Given the description of an element on the screen output the (x, y) to click on. 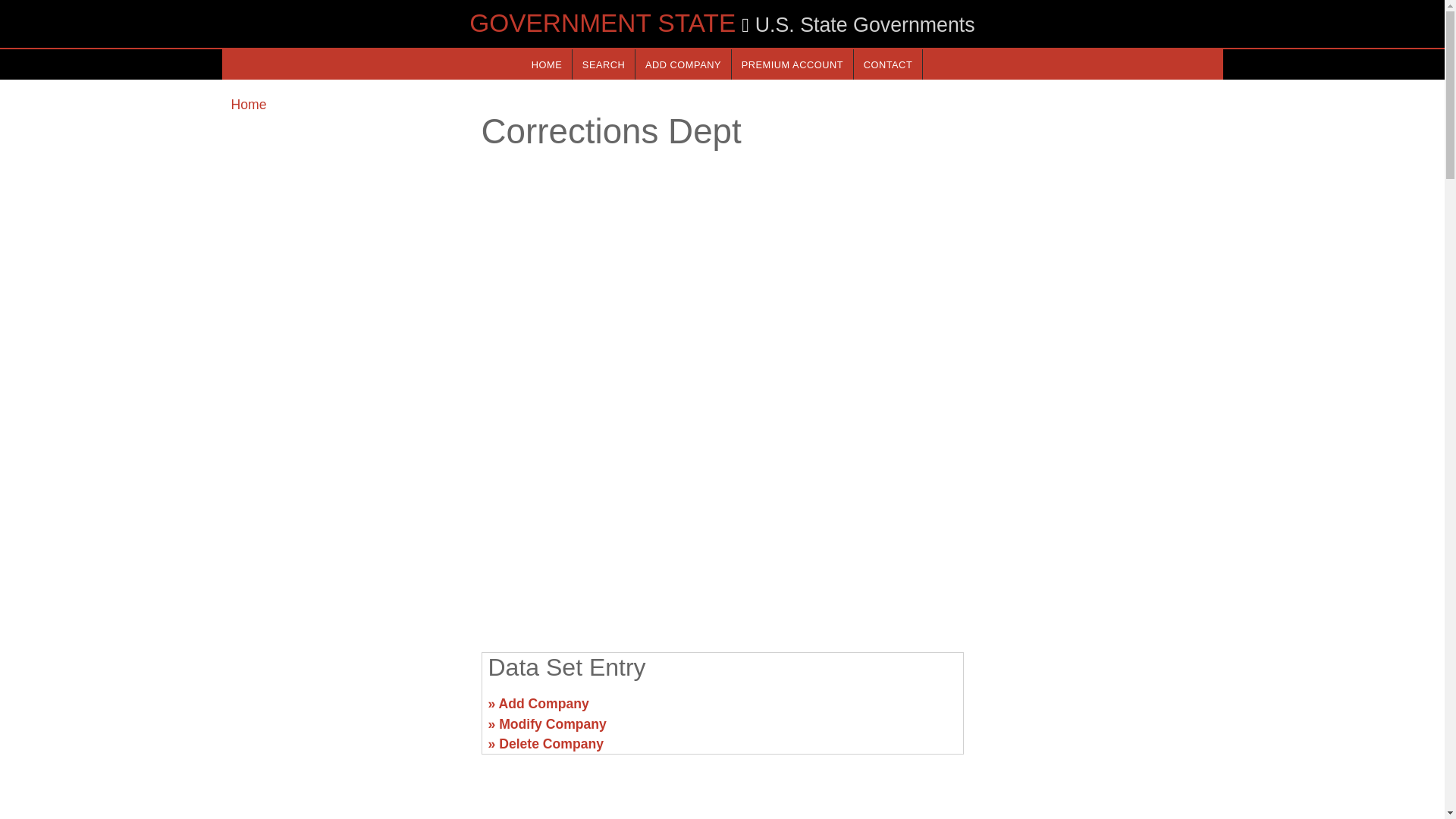
SEARCH (603, 64)
HOME (546, 64)
CONTACT (887, 64)
Search in this webseite. (603, 64)
Advertisement (1096, 710)
Premium account (792, 64)
PREMIUM ACCOUNT (792, 64)
Advertisement (346, 710)
Home (248, 104)
